Given the description of an element on the screen output the (x, y) to click on. 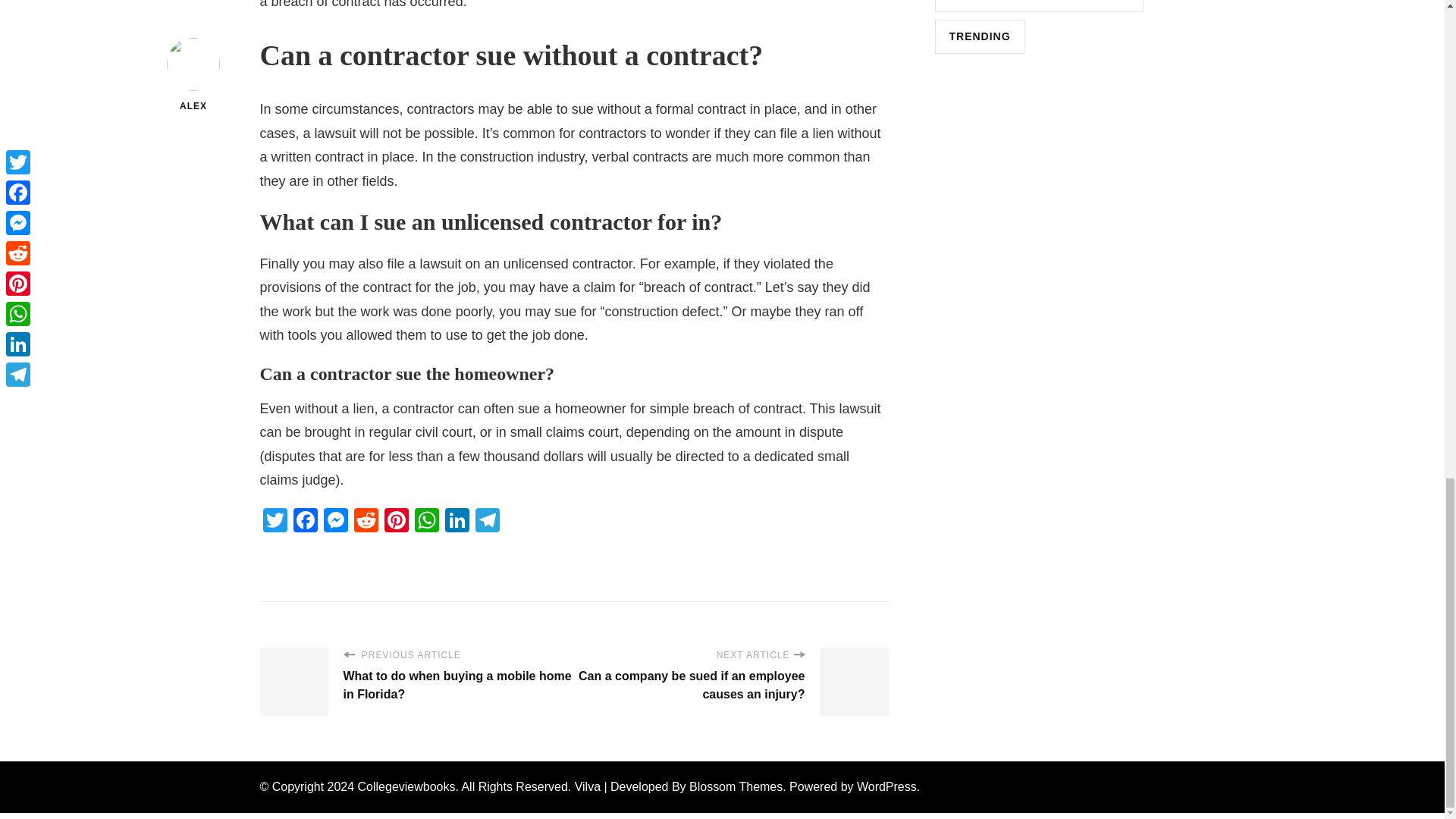
Pinterest (395, 521)
Telegram (486, 521)
Reddit (365, 521)
Facebook (304, 521)
Telegram (486, 521)
Reddit (365, 521)
WhatsApp (425, 521)
Twitter (274, 521)
LinkedIn (456, 521)
Messenger (335, 521)
WhatsApp (425, 521)
Twitter (274, 521)
Messenger (335, 521)
Facebook (304, 521)
LinkedIn (456, 521)
